Given the description of an element on the screen output the (x, y) to click on. 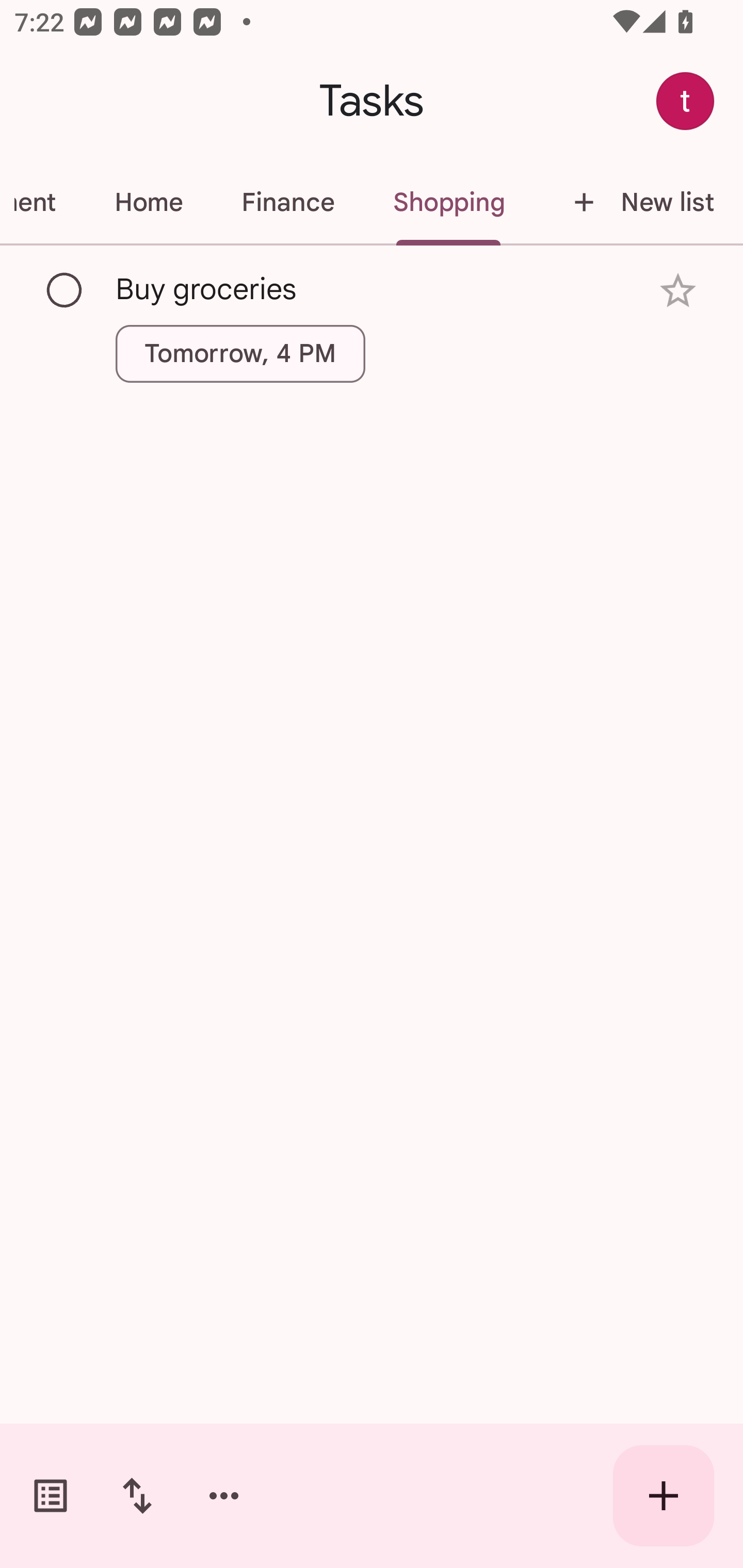
Home (148, 202)
Finance (287, 202)
New list (638, 202)
Add star (677, 290)
Mark as complete (64, 290)
Tomorrow, 4 PM (240, 353)
Switch task lists (50, 1495)
Create new task (663, 1495)
Change sort order (136, 1495)
More options (223, 1495)
